Given the description of an element on the screen output the (x, y) to click on. 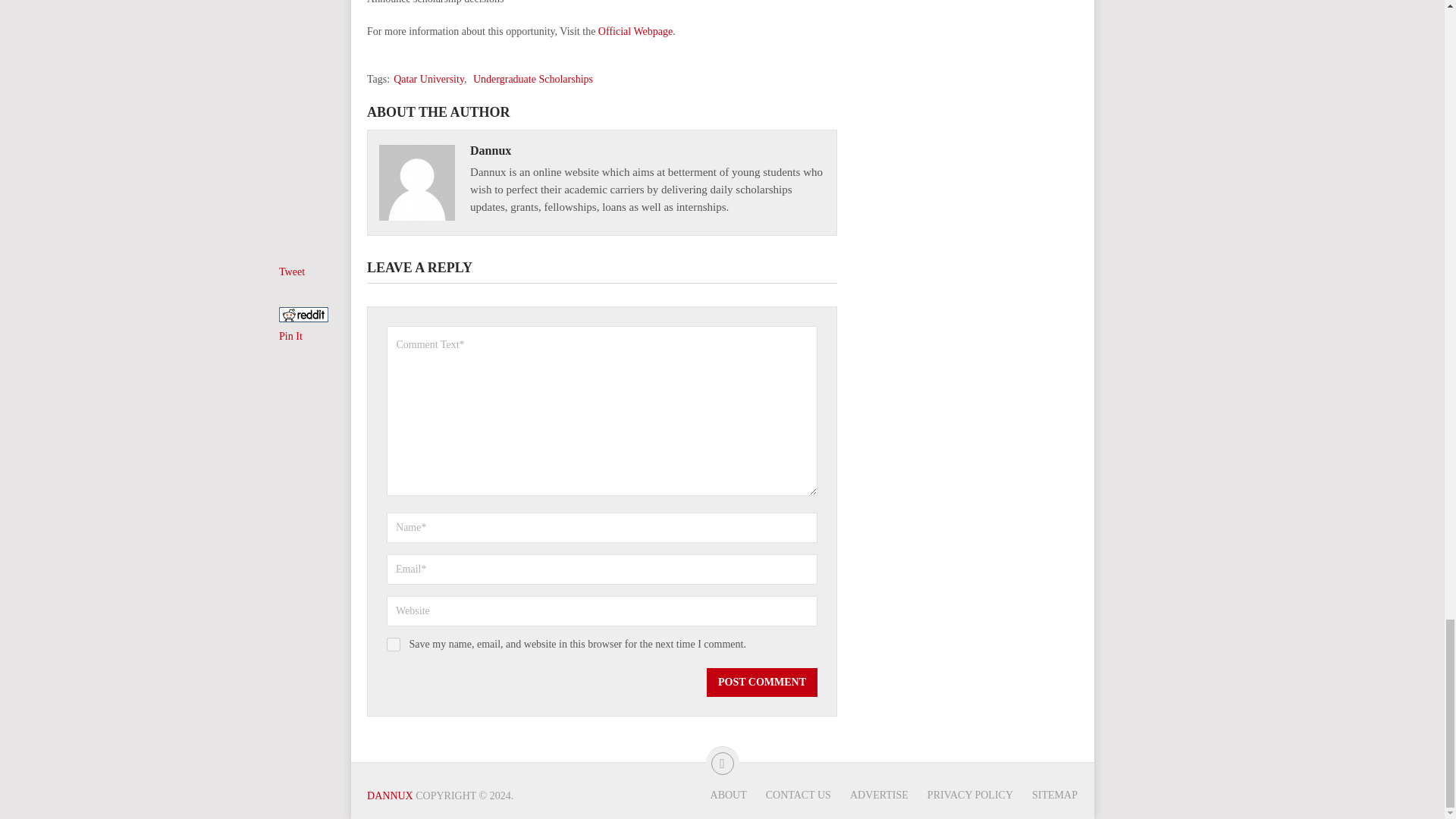
Qatar University (428, 79)
Post Comment (761, 682)
yes (393, 644)
Post Comment (761, 682)
Official Webpage (635, 30)
Dannux (490, 150)
Undergraduate Scholarships (532, 79)
